Given the description of an element on the screen output the (x, y) to click on. 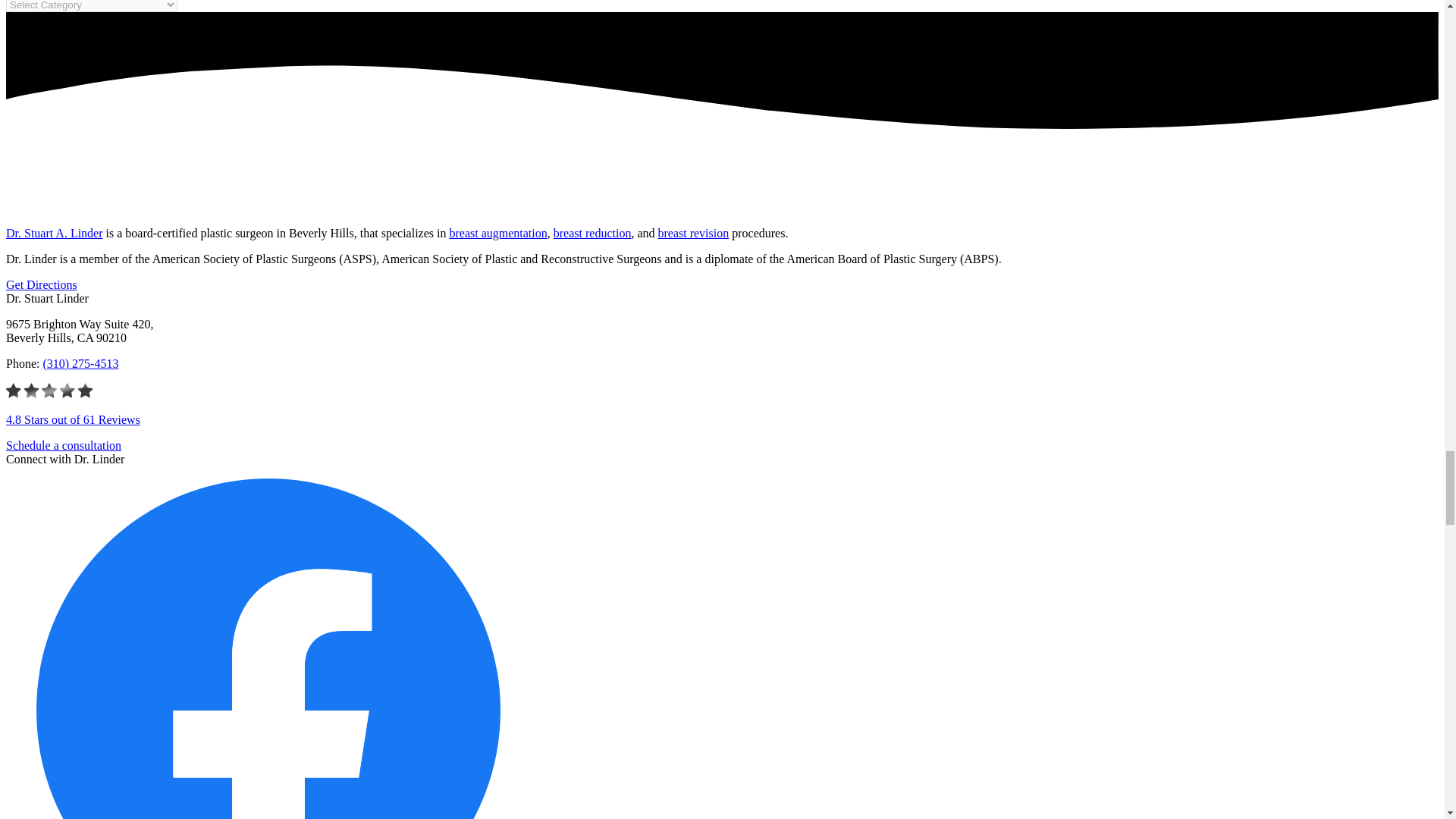
Meet Dr. Linder (54, 232)
Beverly Hills Breast Revision Surgeon (693, 232)
Beverly Hills Breast Reduction Surgeon (592, 232)
Beverly Hills Breast Augmentation Surgeon (497, 232)
